Given the description of an element on the screen output the (x, y) to click on. 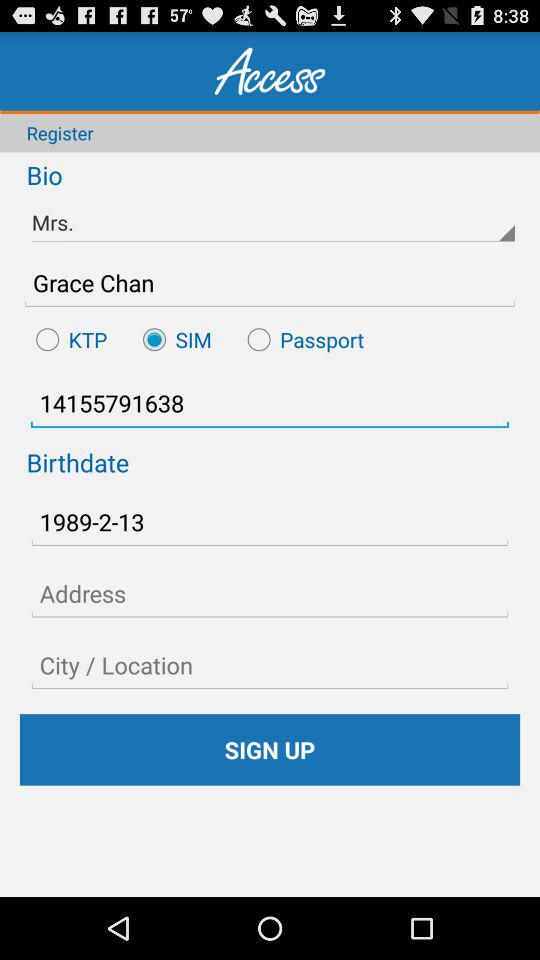
address (269, 593)
